Given the description of an element on the screen output the (x, y) to click on. 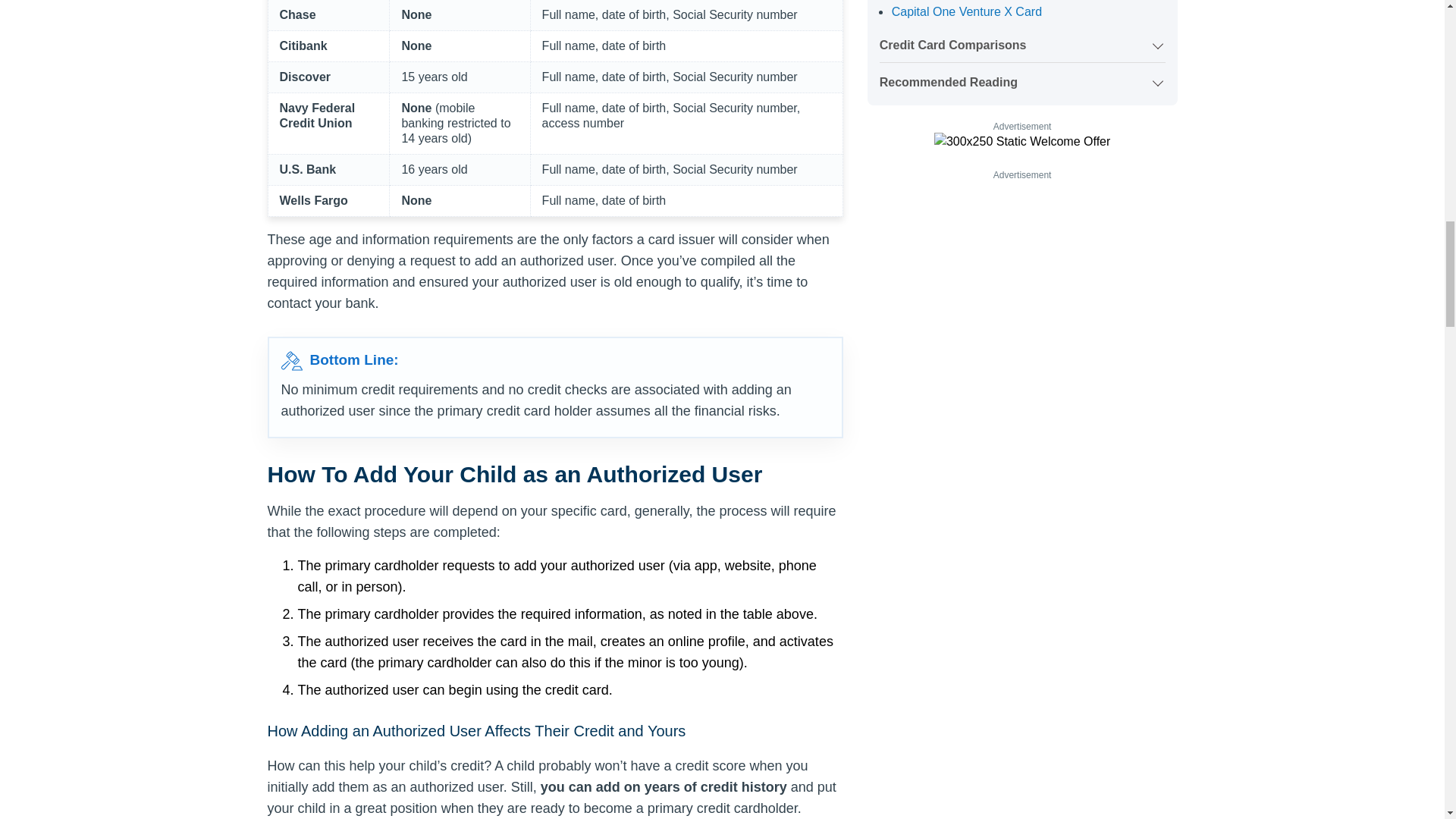
on (1022, 40)
on (1022, 78)
